Given the description of an element on the screen output the (x, y) to click on. 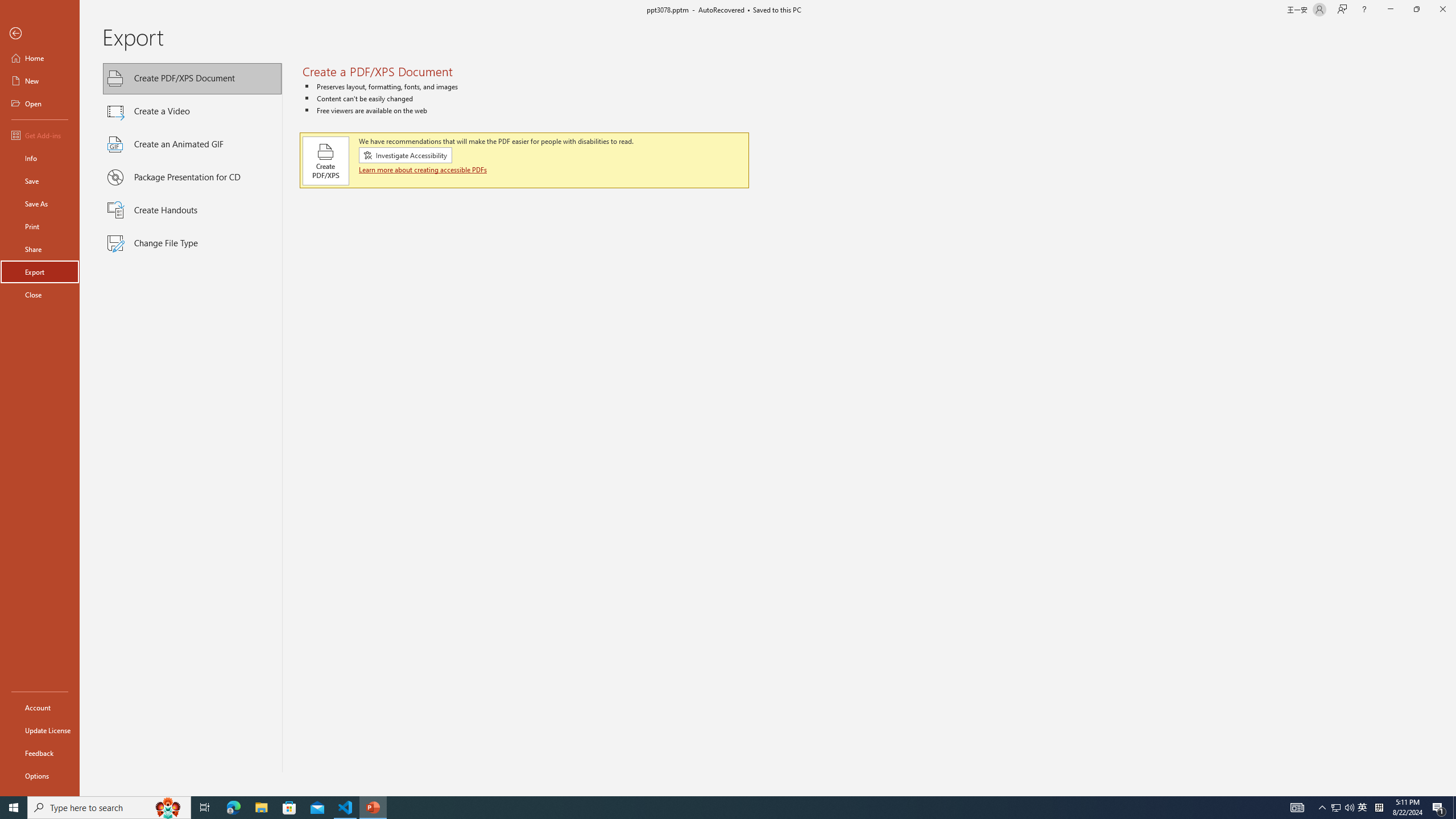
Print (40, 225)
Change File Type (192, 243)
Create an Animated GIF (192, 144)
Save As (40, 203)
Get Add-ins (40, 134)
Export (40, 271)
Options (40, 775)
Create a Video (192, 111)
Create Handouts (192, 210)
Account (40, 707)
